Given the description of an element on the screen output the (x, y) to click on. 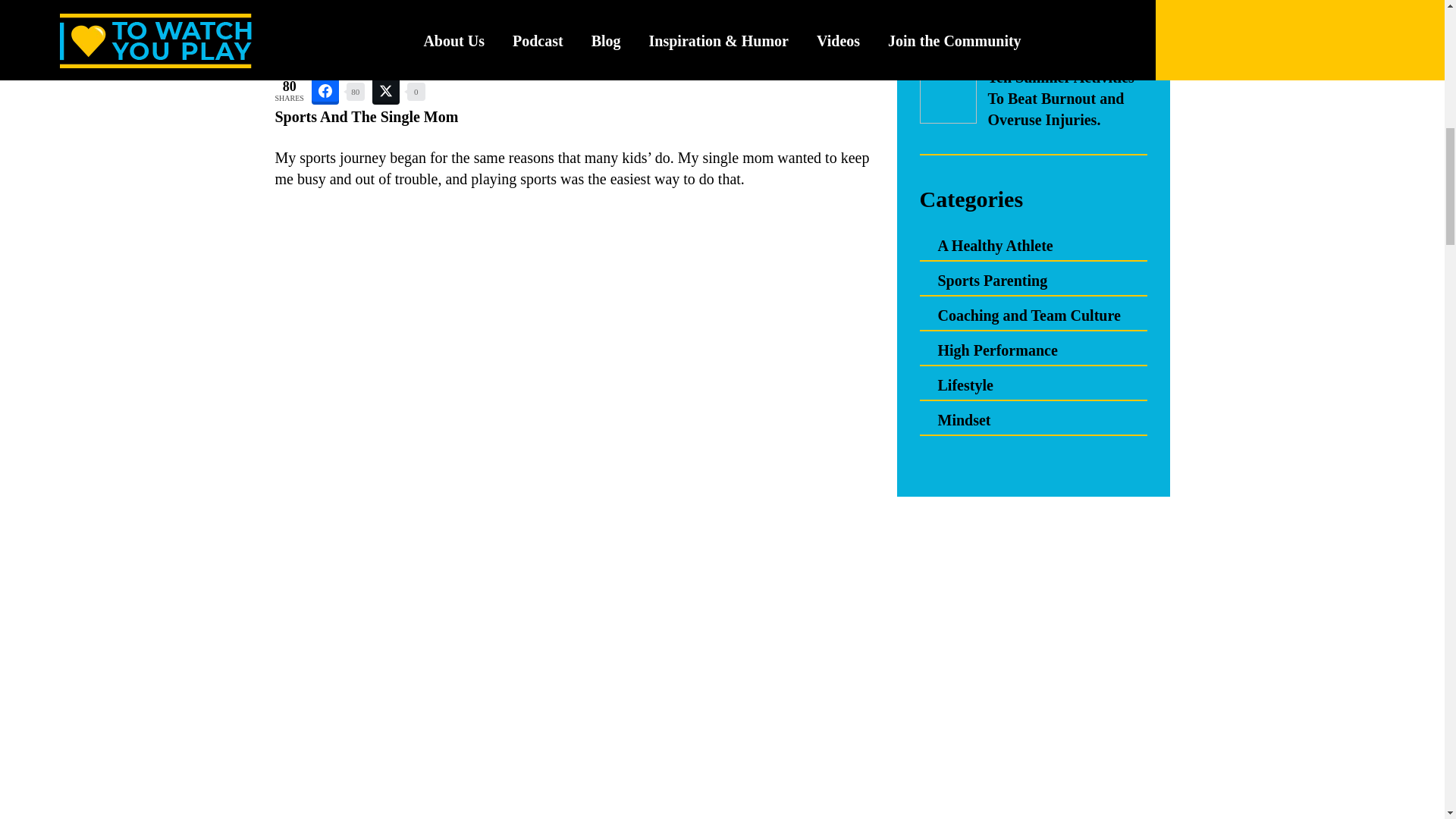
A Healthy Athlete (994, 245)
Sports Parenting (991, 280)
Share on Facebook (325, 90)
Ten Summer Activities To Beat Burnout and Overuse Injuries. (1060, 97)
Share on Twitter (385, 90)
